Given the description of an element on the screen output the (x, y) to click on. 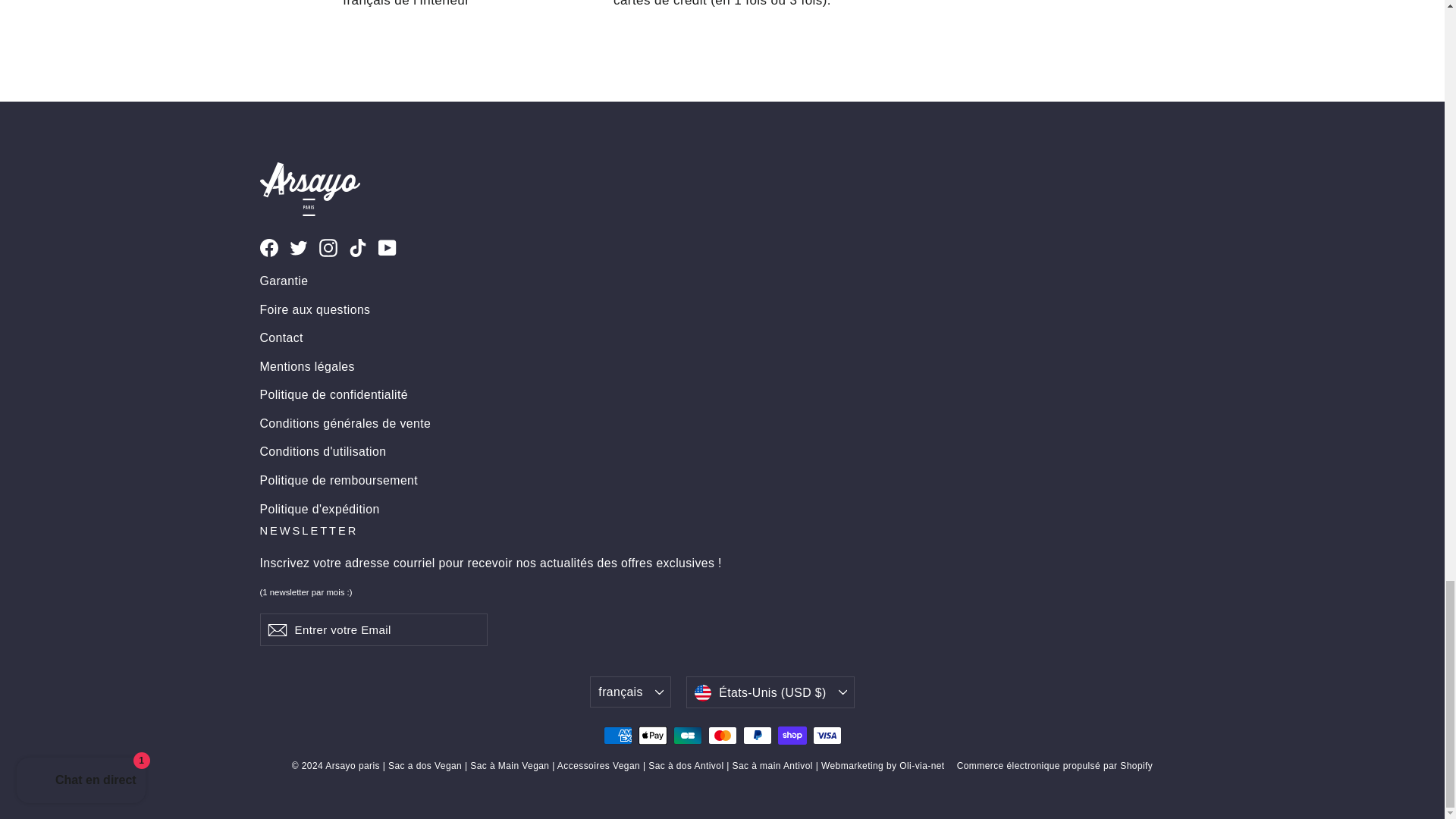
Arsayo paris sur Instagram (327, 246)
TikTok (357, 246)
Twitter (298, 246)
Arsayo paris sur YouTube (386, 246)
Shop Pay (791, 735)
PayPal (756, 735)
Arsayo paris sur TikTok (357, 246)
Cartes Bancaires (686, 735)
Facebook (268, 246)
YouTube (386, 246)
Arsayo paris sur Facebook (268, 246)
Instagram (327, 246)
Mastercard (721, 735)
Garantie (722, 280)
Visa (826, 735)
